Given the description of an element on the screen output the (x, y) to click on. 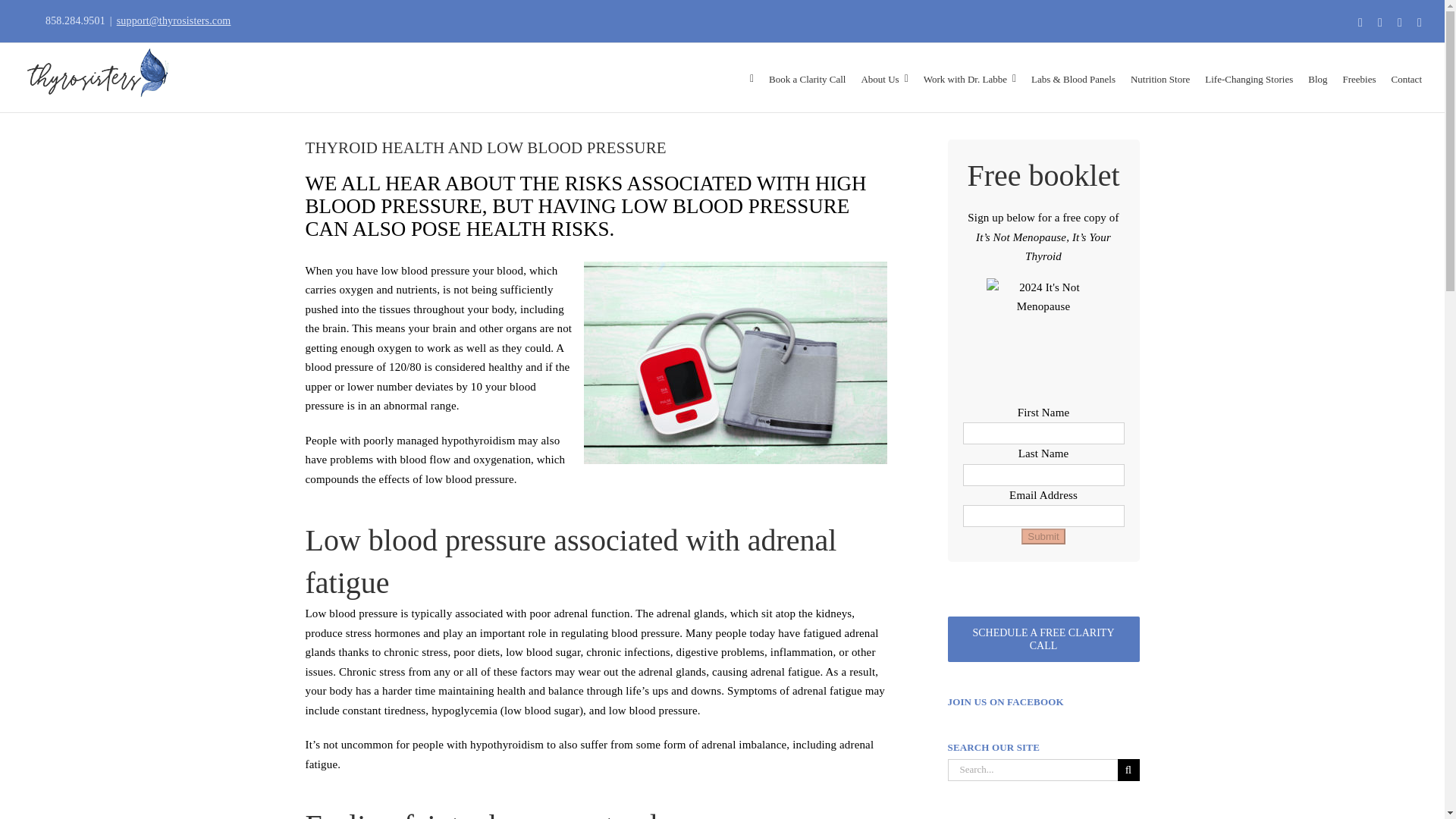
Book a Clarity Call (806, 77)
Life-Changing Stories (1248, 77)
Work with Dr. Labbe (969, 77)
